Given the description of an element on the screen output the (x, y) to click on. 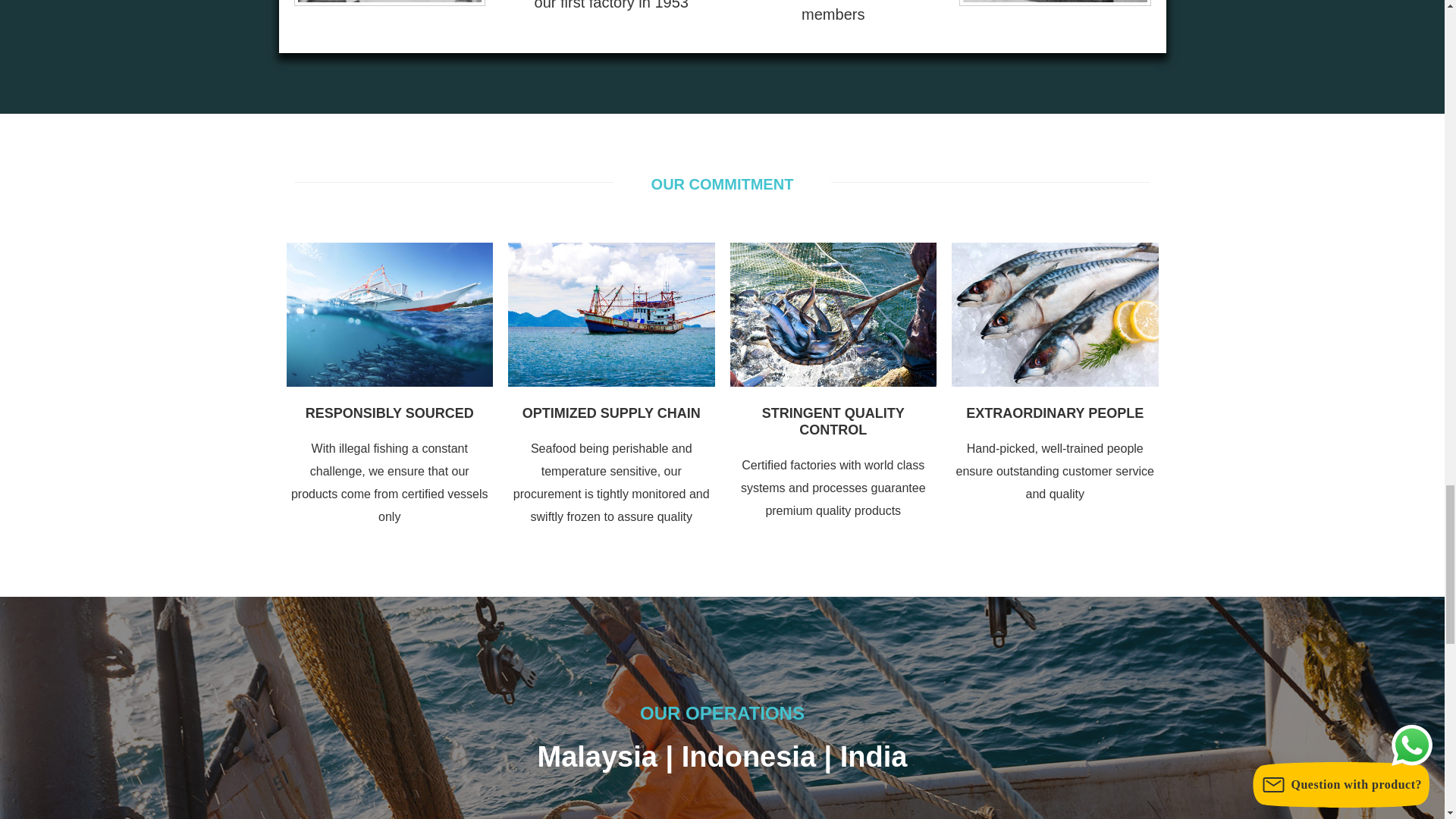
RESPONSIBLY SOURCED (389, 412)
STRINGENT QUALITY CONTROL (832, 421)
EXTRAORDINARY PEOPLE (1054, 412)
OPTIMIZED SUPPLY CHAIN (611, 412)
